Given the description of an element on the screen output the (x, y) to click on. 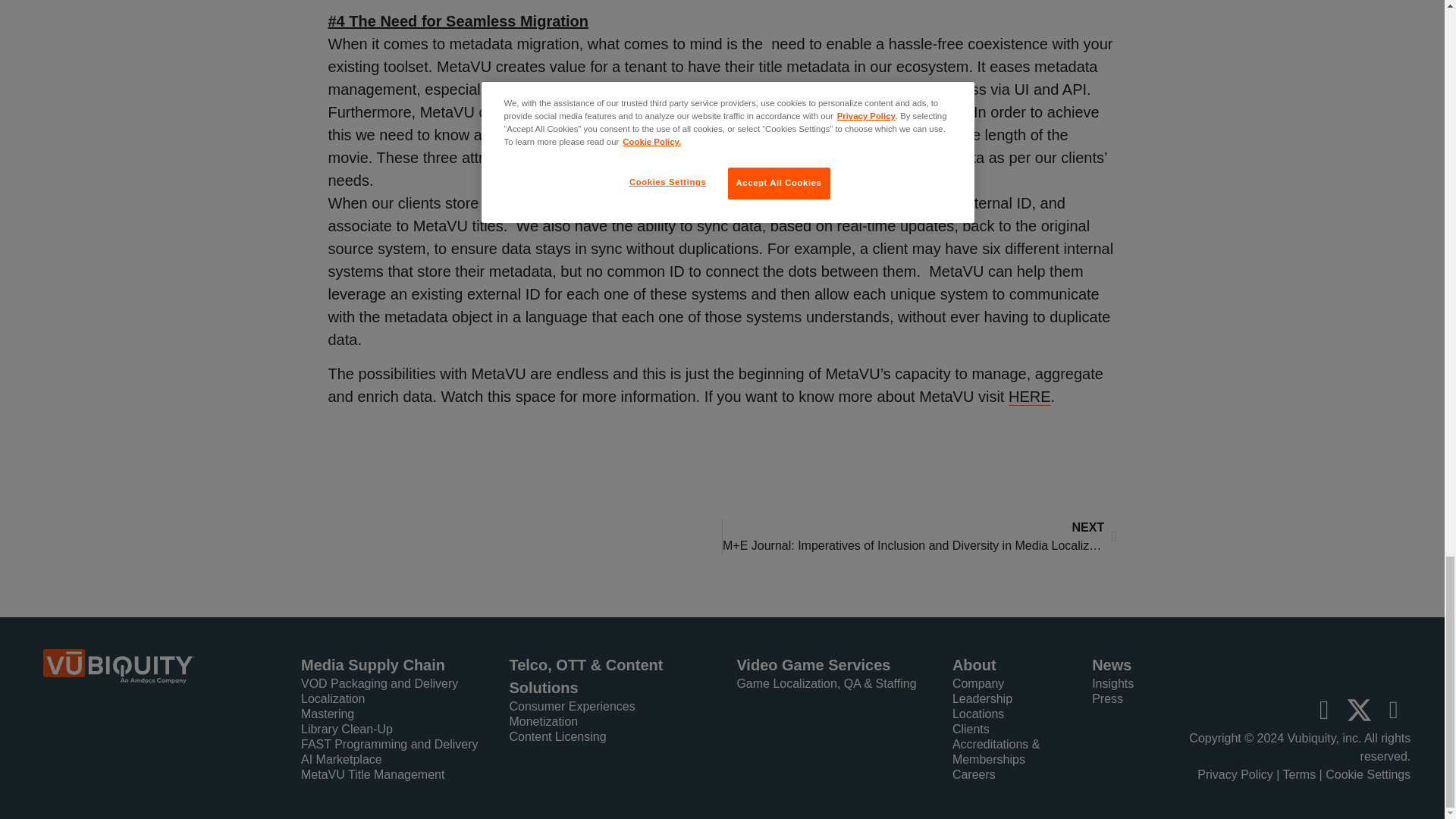
FAST Programming and Delivery (392, 744)
Library Clean-Up (392, 729)
VOD Packaging and Delivery (392, 683)
Cookie Settings (1367, 774)
Mastering (392, 713)
Localization (392, 698)
HERE (1030, 396)
